Given the description of an element on the screen output the (x, y) to click on. 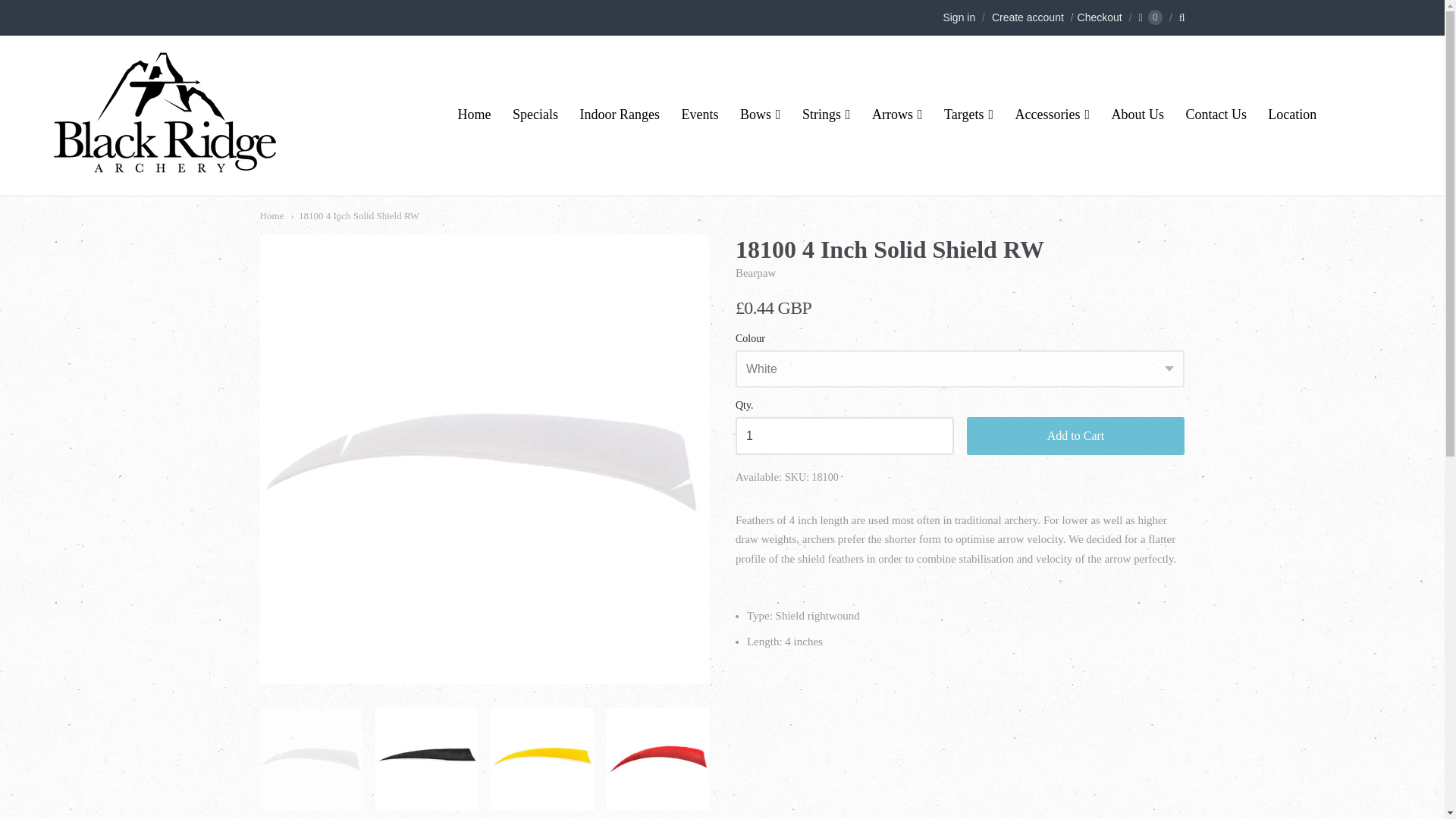
Blackridge Archery (164, 166)
Create account (1027, 17)
18100 4 Inch Solid Shield RW (355, 214)
Indoor Ranges (619, 114)
Bearpaw (755, 272)
Checkout (1094, 17)
1 (844, 435)
Home (474, 114)
Events (698, 114)
Specials (535, 114)
Home (271, 214)
Bows (760, 114)
Sign in (958, 17)
0 (1149, 17)
